Given the description of an element on the screen output the (x, y) to click on. 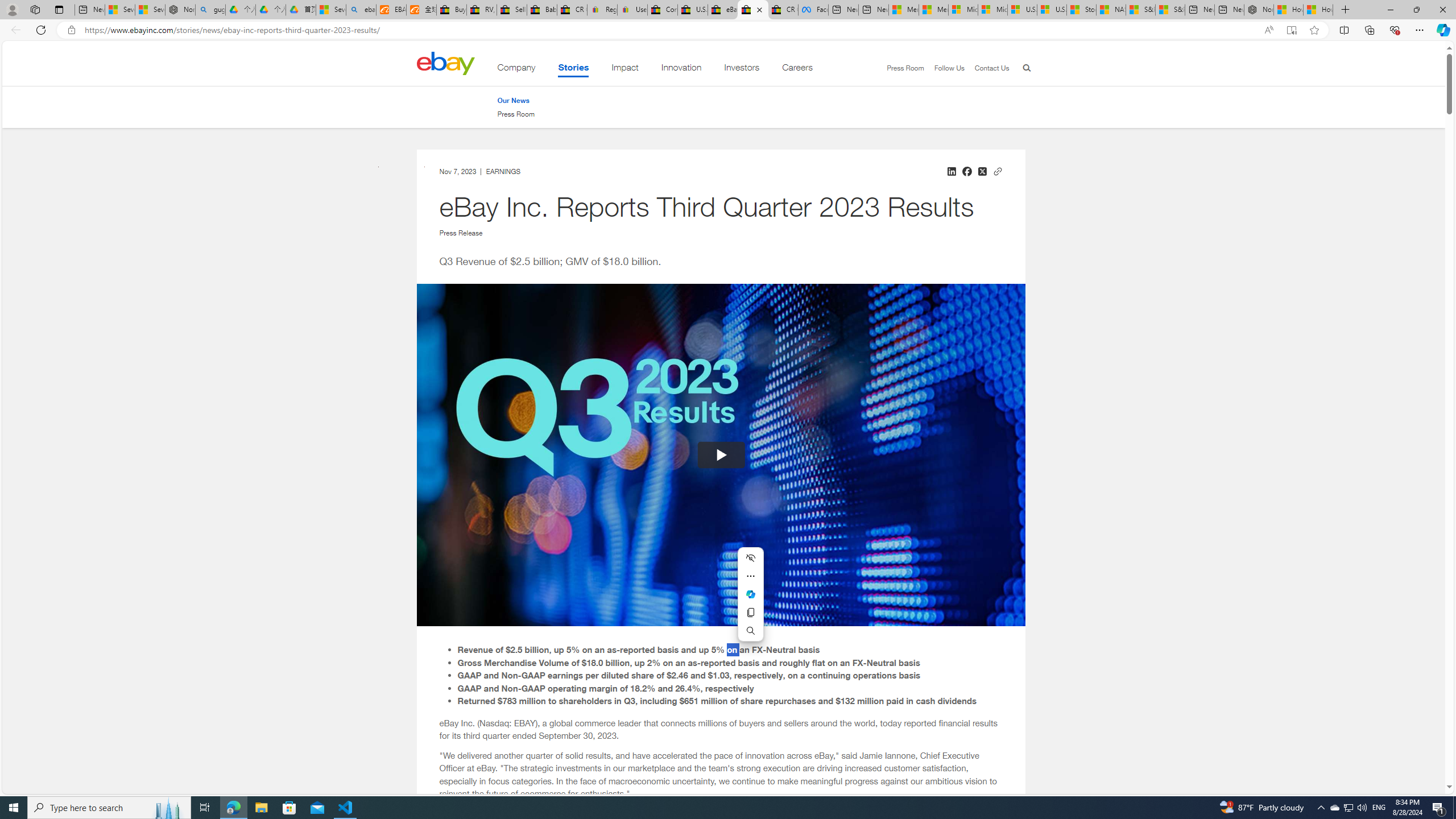
Copy (750, 612)
Press Room (515, 113)
Class: desktop (445, 63)
Follow Us (943, 68)
Our News (512, 99)
Company (515, 69)
AutomationID: Group_1_1_ (721, 454)
